Given the description of an element on the screen output the (x, y) to click on. 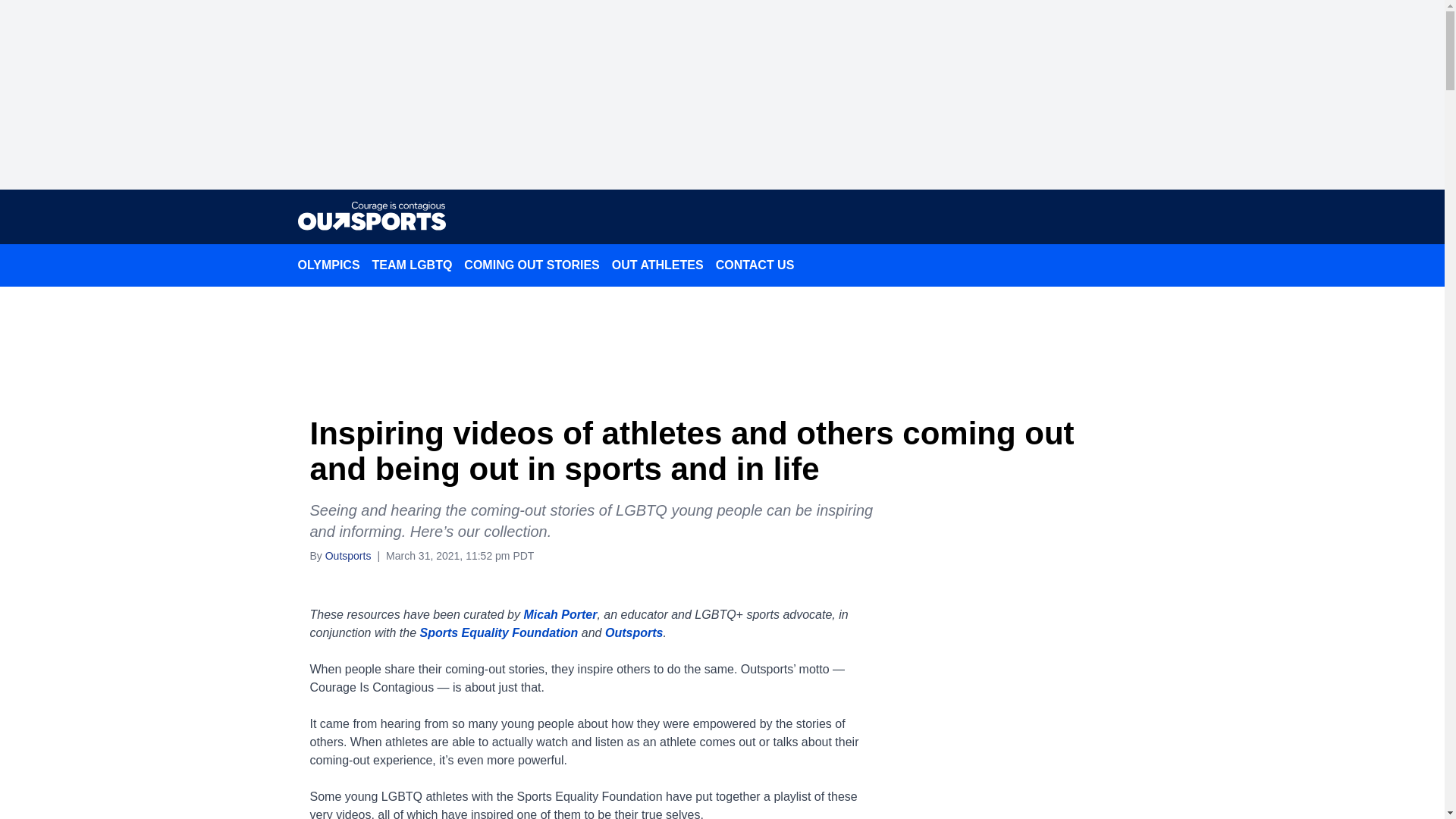
OLYMPICS (328, 265)
CONTACT US (755, 265)
TEAM LGBTQ (412, 265)
Outsports (633, 632)
Outsports (347, 554)
COMING OUT STORIES (531, 265)
Micah Porter (559, 614)
OUT ATHLETES (657, 265)
Sports Equality Foundation (498, 632)
